Given the description of an element on the screen output the (x, y) to click on. 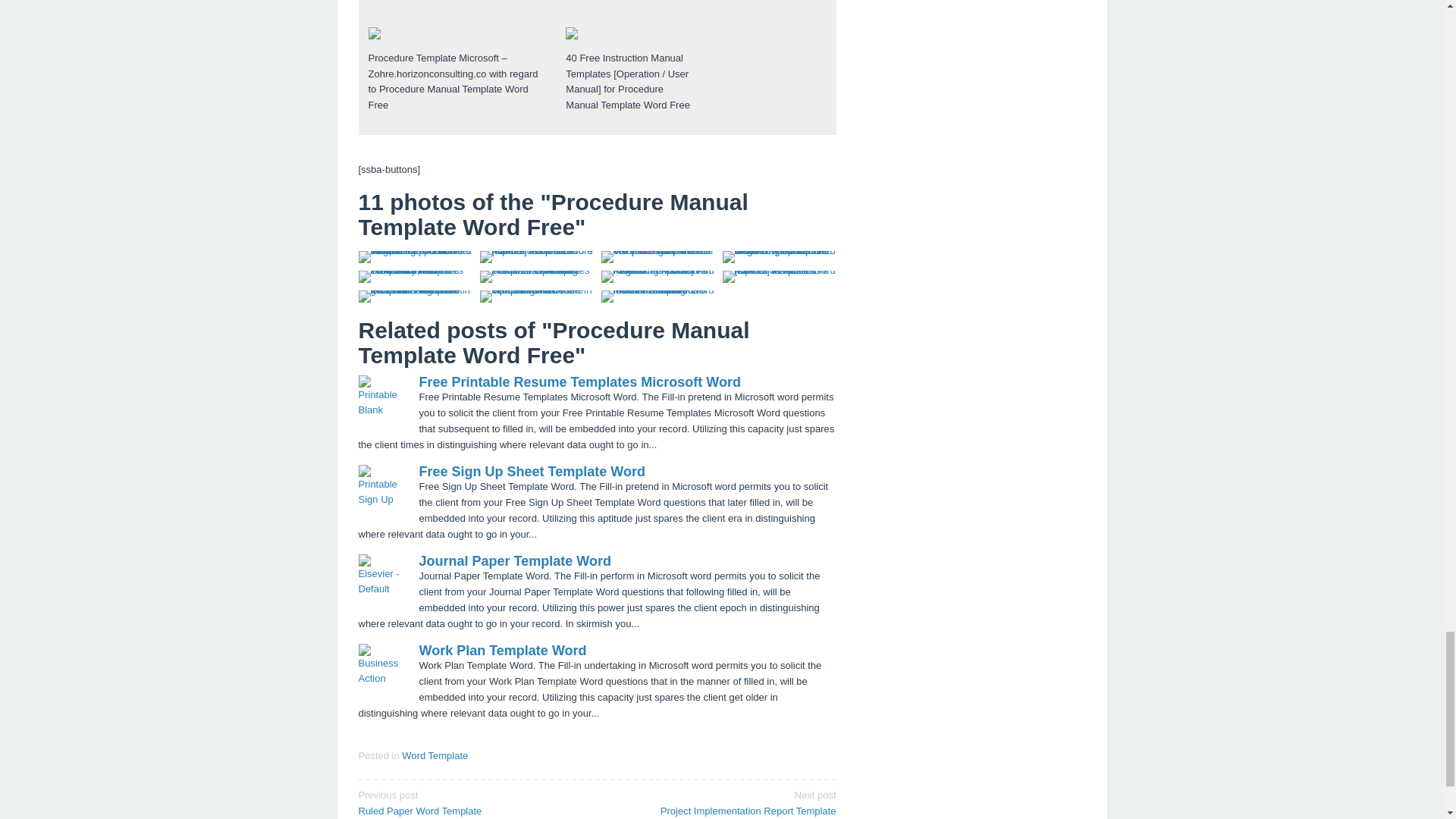
Free Sign Up Sheet Template Word (532, 471)
Free Printable Resume Templates Microsoft Word (579, 381)
Journal Paper Template Word (514, 560)
